Given the description of an element on the screen output the (x, y) to click on. 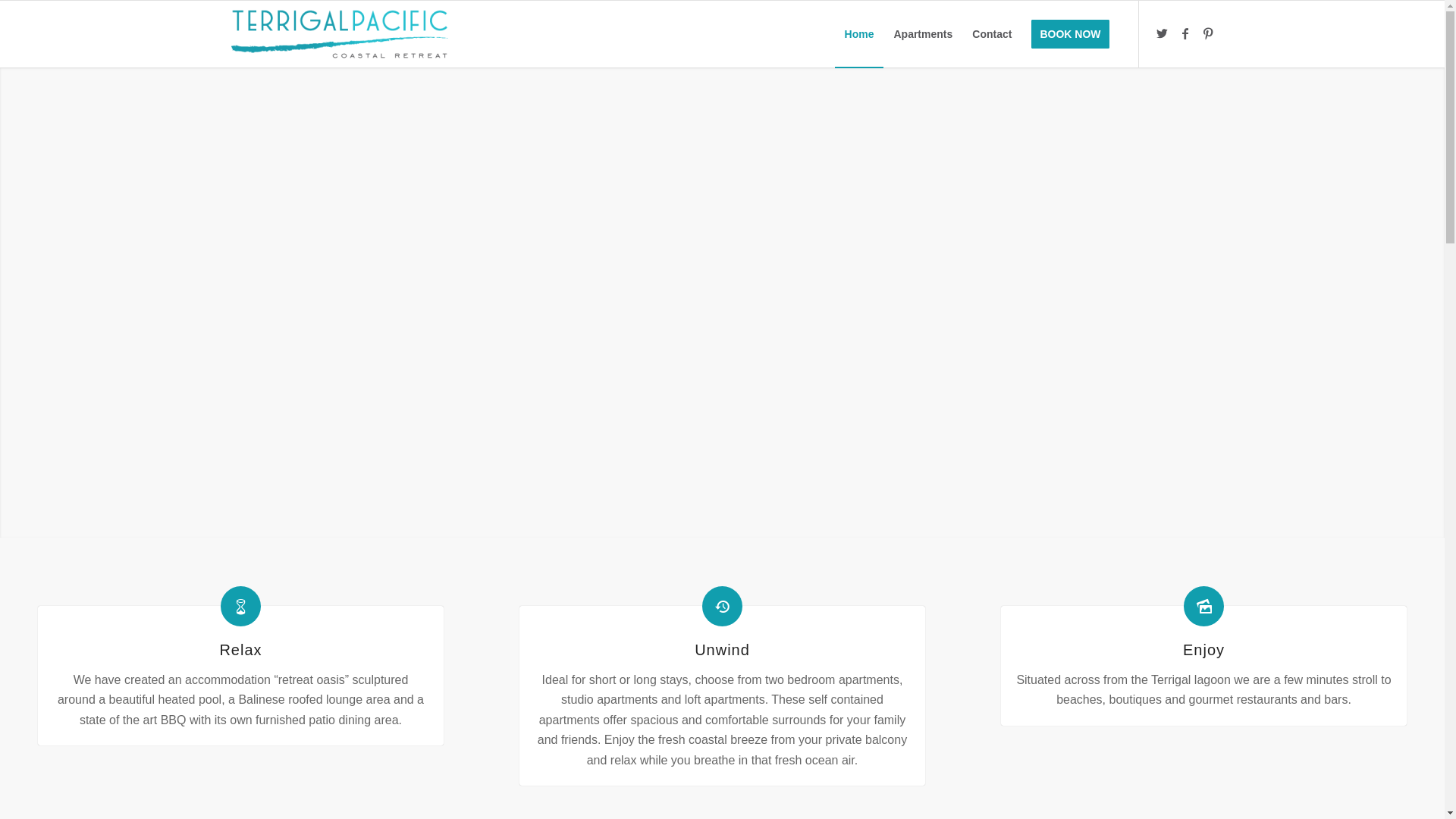
Home Element type: text (859, 33)
Twitter Element type: hover (1162, 32)
Pinterest Element type: hover (1207, 32)
Facebook Element type: hover (1184, 32)
Contact Element type: text (991, 33)
BOOK NOW Element type: text (1069, 33)
Apartments Element type: text (922, 33)
